Given the description of an element on the screen output the (x, y) to click on. 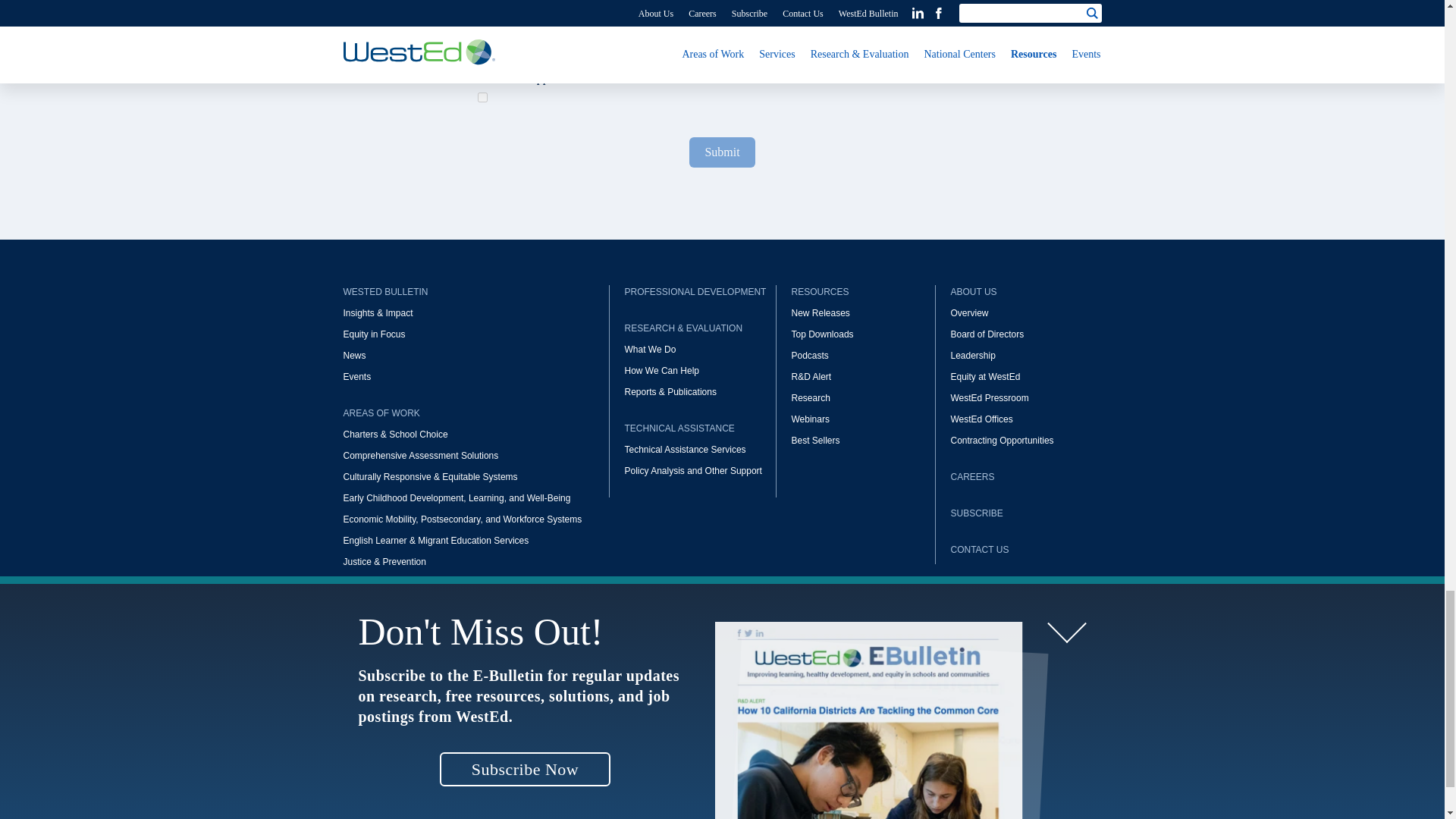
yes (482, 97)
